Given the description of an element on the screen output the (x, y) to click on. 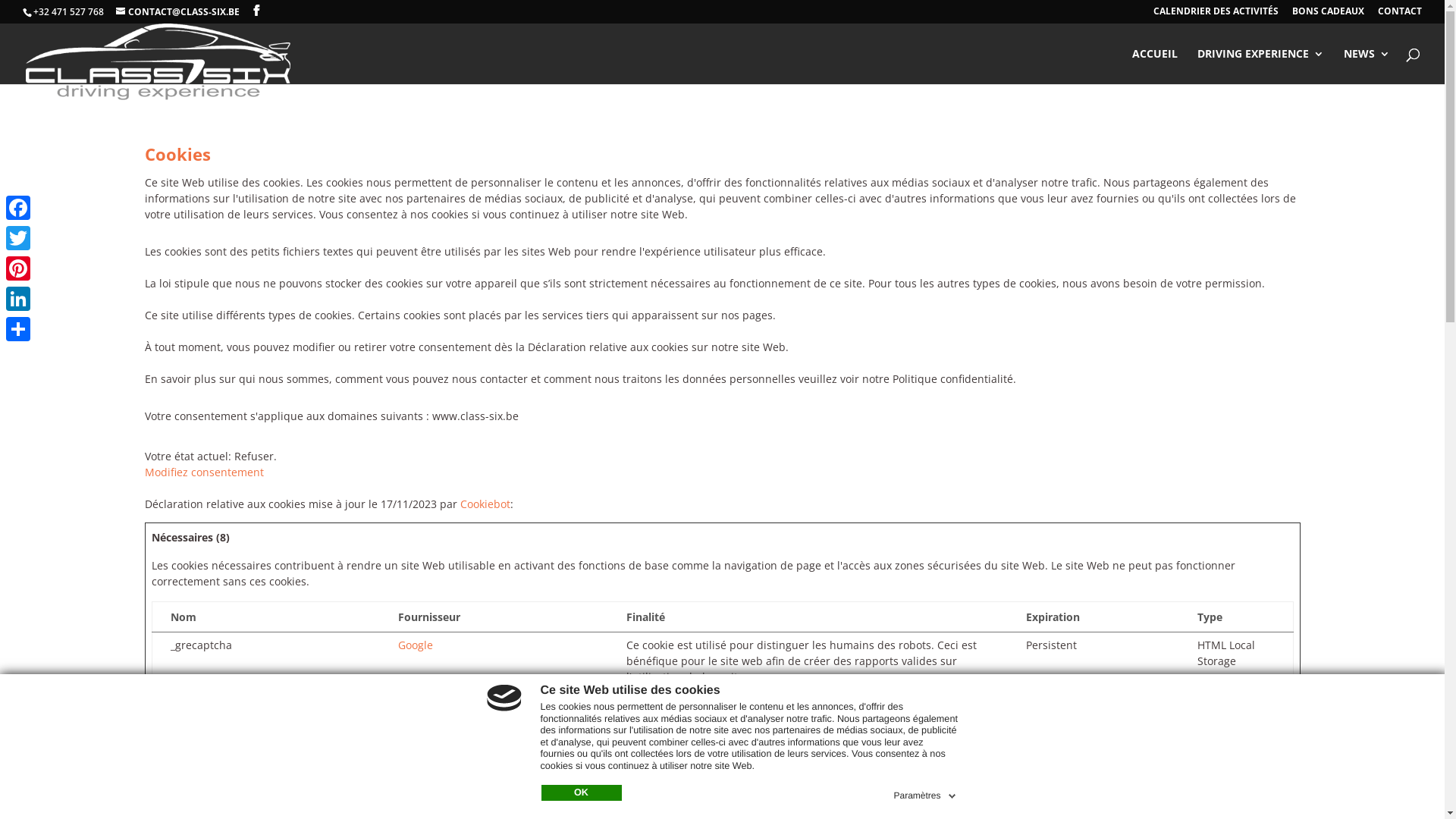
Google Element type: text (415, 644)
NEWS Element type: text (1366, 66)
LinkedIn Element type: text (18, 298)
Cookiebot Element type: text (423, 760)
OK Element type: text (581, 792)
Partager Element type: text (18, 328)
BONS CADEAUX Element type: text (1328, 14)
Twitter Element type: text (18, 237)
Cookiebot Element type: text (484, 503)
Google Element type: text (415, 702)
Modifiez consentement Element type: text (203, 471)
DRIVING EXPERIENCE Element type: text (1260, 66)
CONTACT Element type: text (1399, 14)
Facebook Element type: text (18, 207)
ACCUEIL Element type: text (1154, 66)
Pinterest Element type: text (18, 268)
CONTACT@CLASS-SIX.BE Element type: text (177, 11)
